Given the description of an element on the screen output the (x, y) to click on. 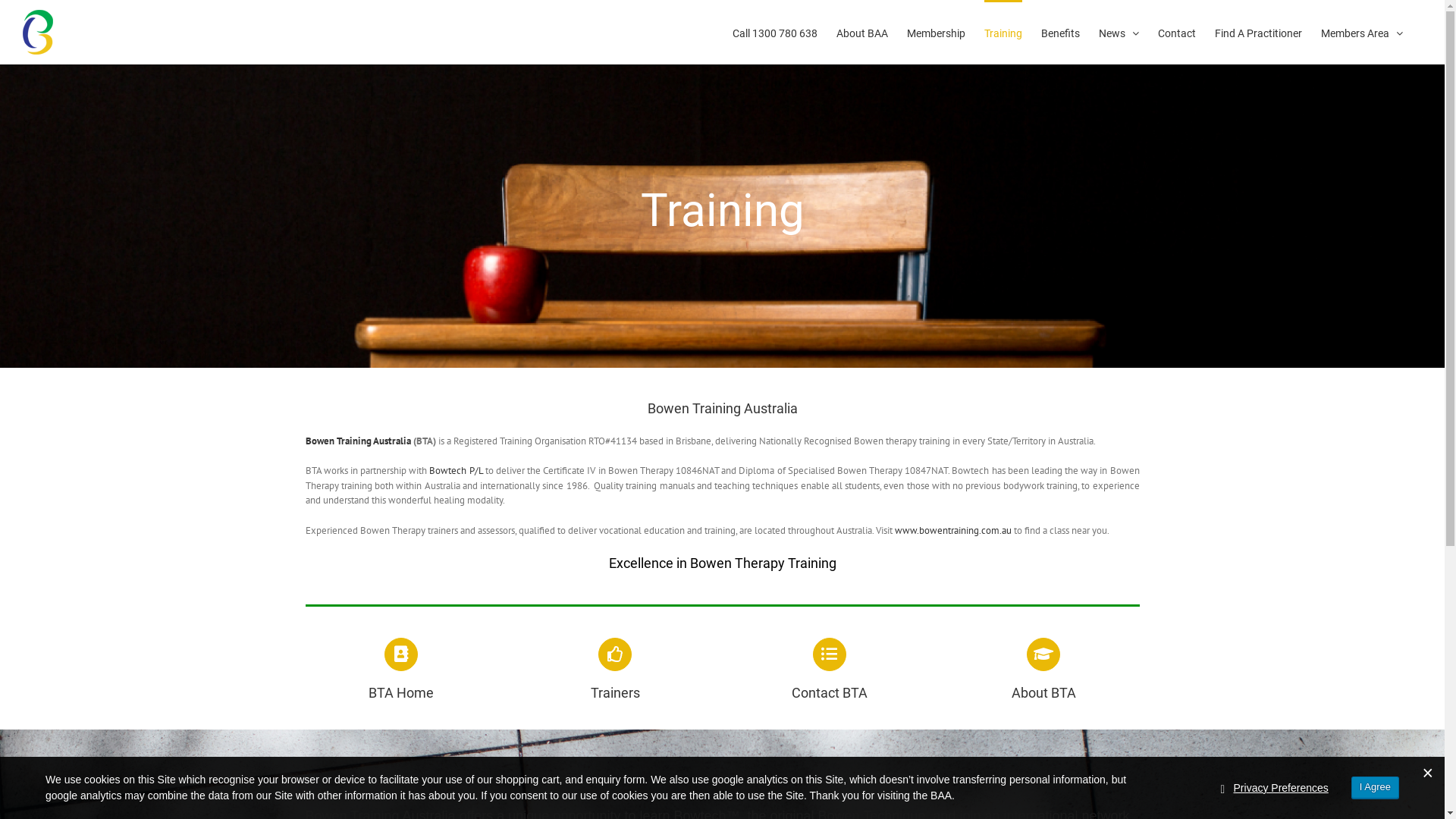
Benefits Element type: text (1060, 31)
Find A Practitioner Element type: text (1258, 31)
Training Element type: text (1003, 31)
Bowen Training Australia Element type: text (357, 440)
Contact BTA Element type: text (829, 669)
About BAA Element type: text (862, 31)
Trainers Element type: text (615, 669)
www.bowentraining.com.au Element type: text (952, 530)
About BTA Element type: text (1043, 669)
Bowtech P/L Element type: text (455, 470)
Call 1300 780 638 Element type: text (774, 31)
Membership Element type: text (935, 31)
Contact Element type: text (1176, 31)
BTA Home Element type: text (400, 669)
Privacy Preferences Element type: text (1281, 788)
Members Area Element type: text (1361, 31)
I Agree Element type: text (1375, 787)
News Element type: text (1118, 31)
